Given the description of an element on the screen output the (x, y) to click on. 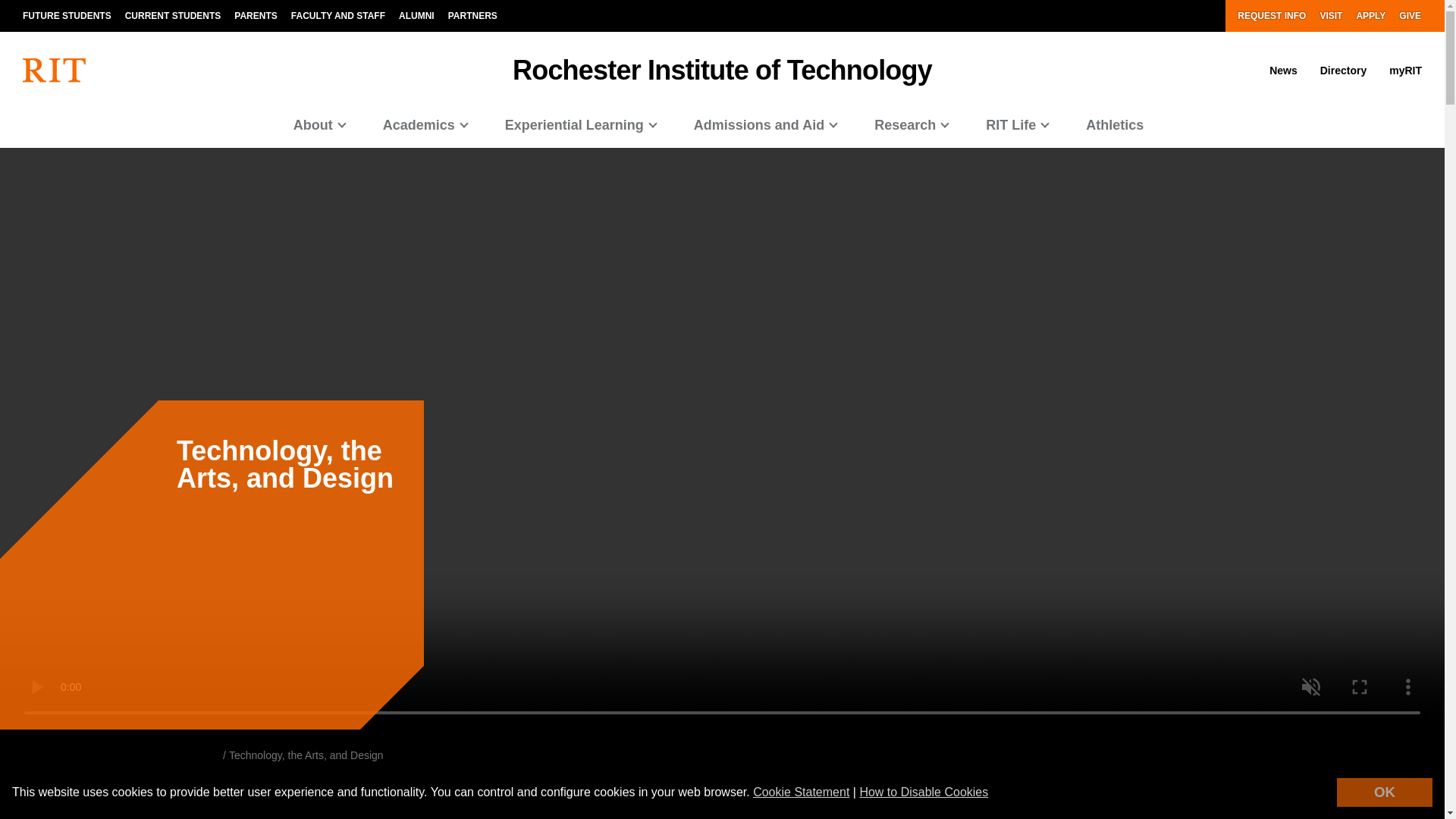
RIT logo (54, 70)
